Given the description of an element on the screen output the (x, y) to click on. 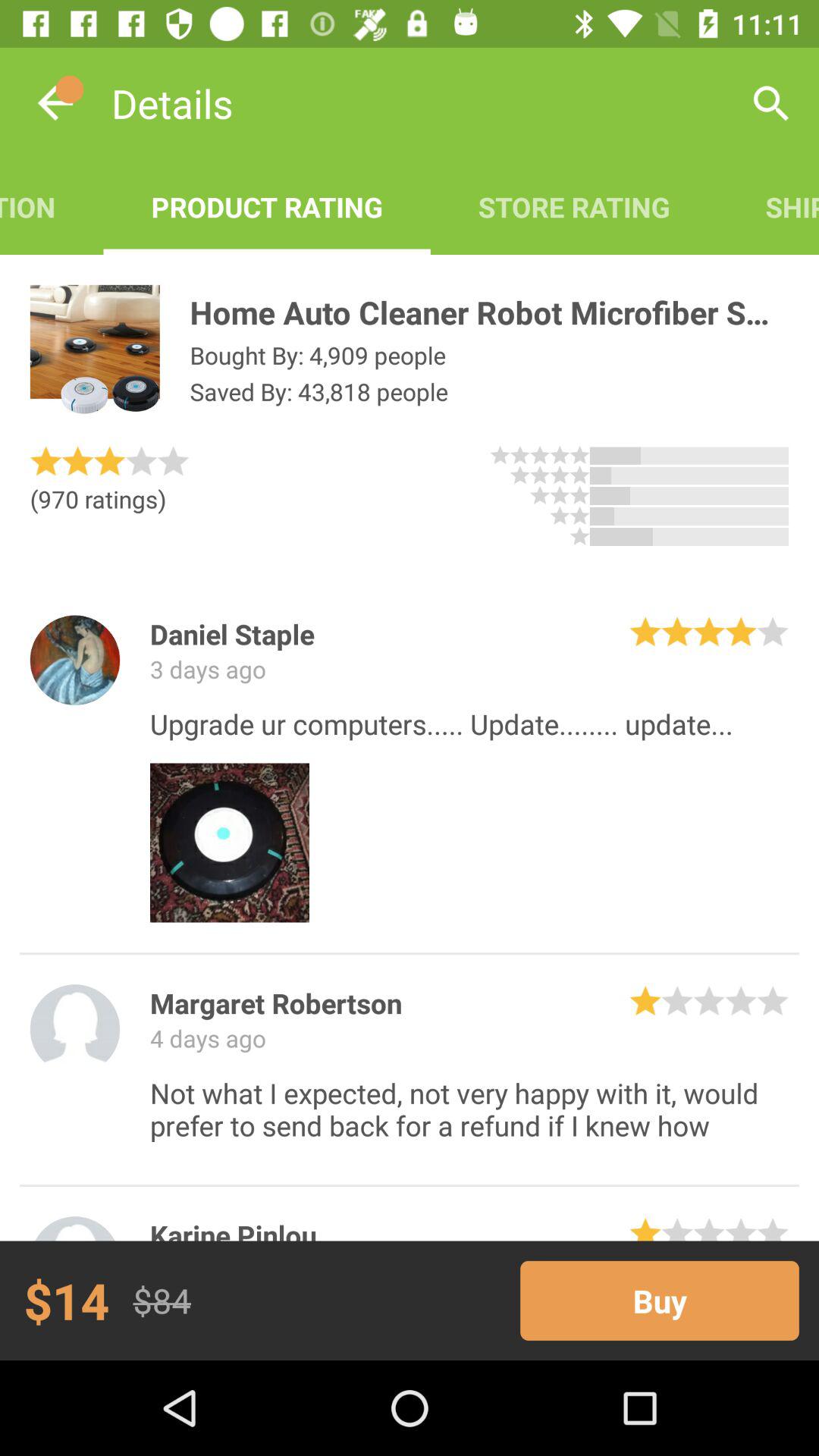
press item to the left of the product rating (51, 206)
